Given the description of an element on the screen output the (x, y) to click on. 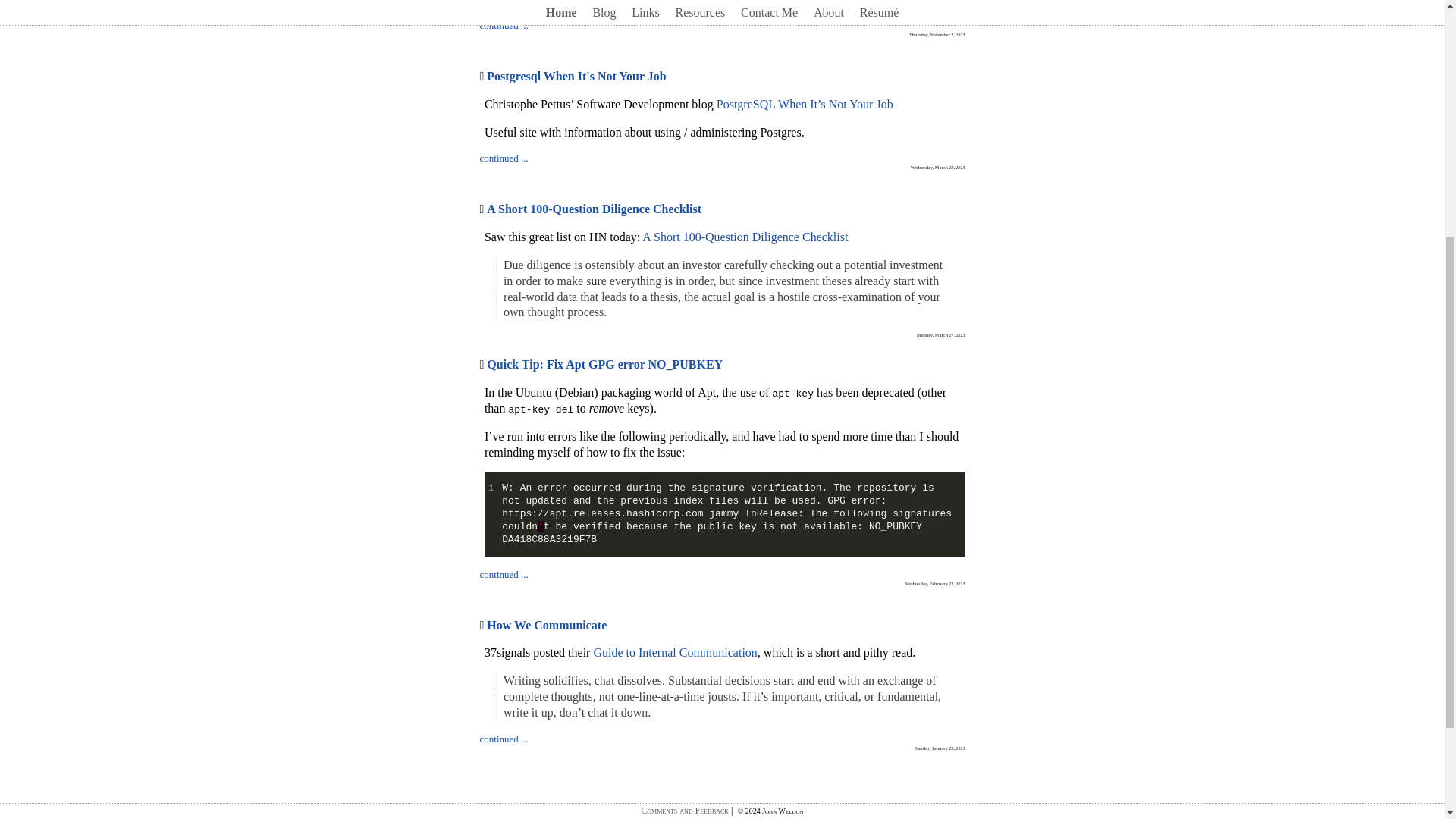
continued ... (503, 25)
9:30 am (935, 584)
How We Communicate (546, 625)
A Short 100-Question Diligence Checklist (744, 236)
continued ... (503, 738)
Comments and Feedback (684, 434)
8:00 am (941, 335)
3:20 pm (938, 168)
8:50 am (936, 35)
continued ... (503, 157)
A Short 100-Question Diligence Checklist (593, 208)
continued ... (503, 573)
8:00 pm (940, 749)
Guide to Internal Communication (674, 652)
Postgresql When It's Not Your Job (575, 75)
